Given the description of an element on the screen output the (x, y) to click on. 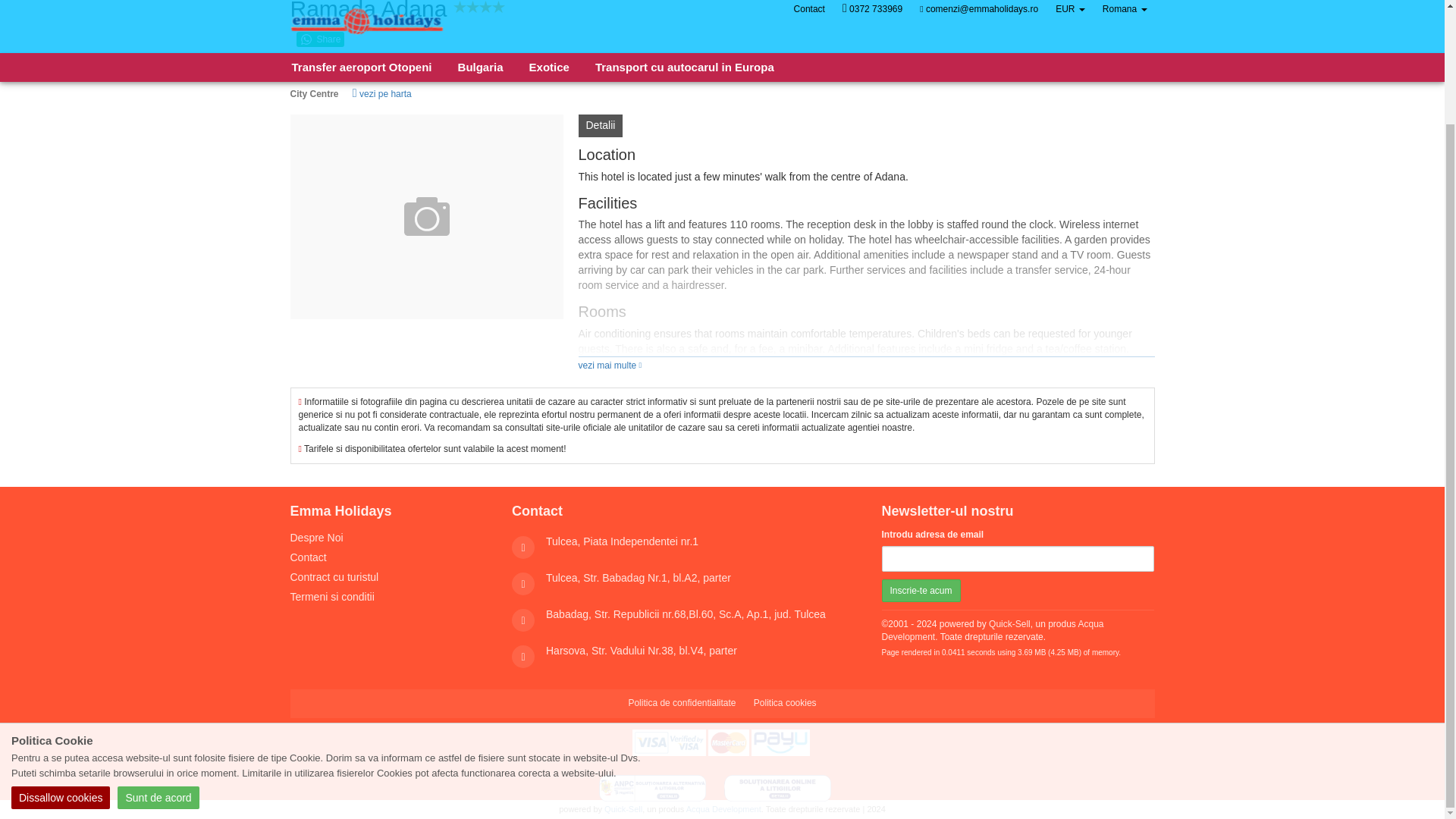
Share (320, 38)
Politica de confidentialitate (681, 703)
vezi mai multe (610, 365)
vezi pe harta (380, 93)
Politica cookies (784, 703)
Contact (307, 557)
Tulcea, Piata Independentei nr.1 (622, 541)
Inscrie-te acum (919, 590)
Termeni si conditii (331, 596)
